Given the description of an element on the screen output the (x, y) to click on. 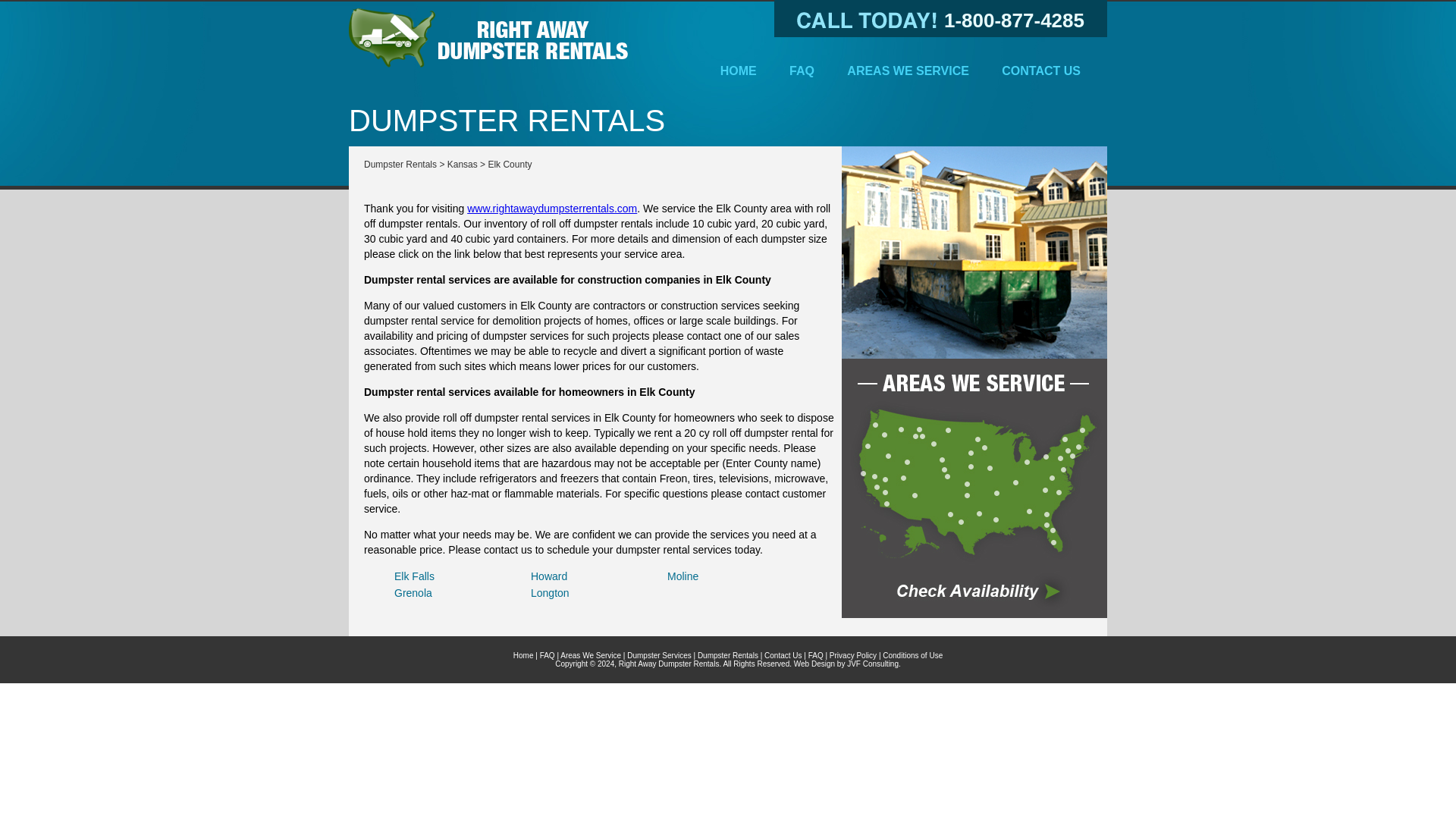
Privacy Policy (852, 655)
HOME (737, 70)
CONTACT US (1041, 70)
Grenola (413, 592)
Areas We Service (973, 488)
FAQ (816, 655)
Longton (550, 592)
Moline (682, 576)
Dumpster Services (658, 655)
Areas We Service (973, 252)
Dumpster Rentals (727, 655)
FAQ (801, 70)
Home (523, 655)
Conditions of Use (912, 655)
Kansas (461, 163)
